Given the description of an element on the screen output the (x, y) to click on. 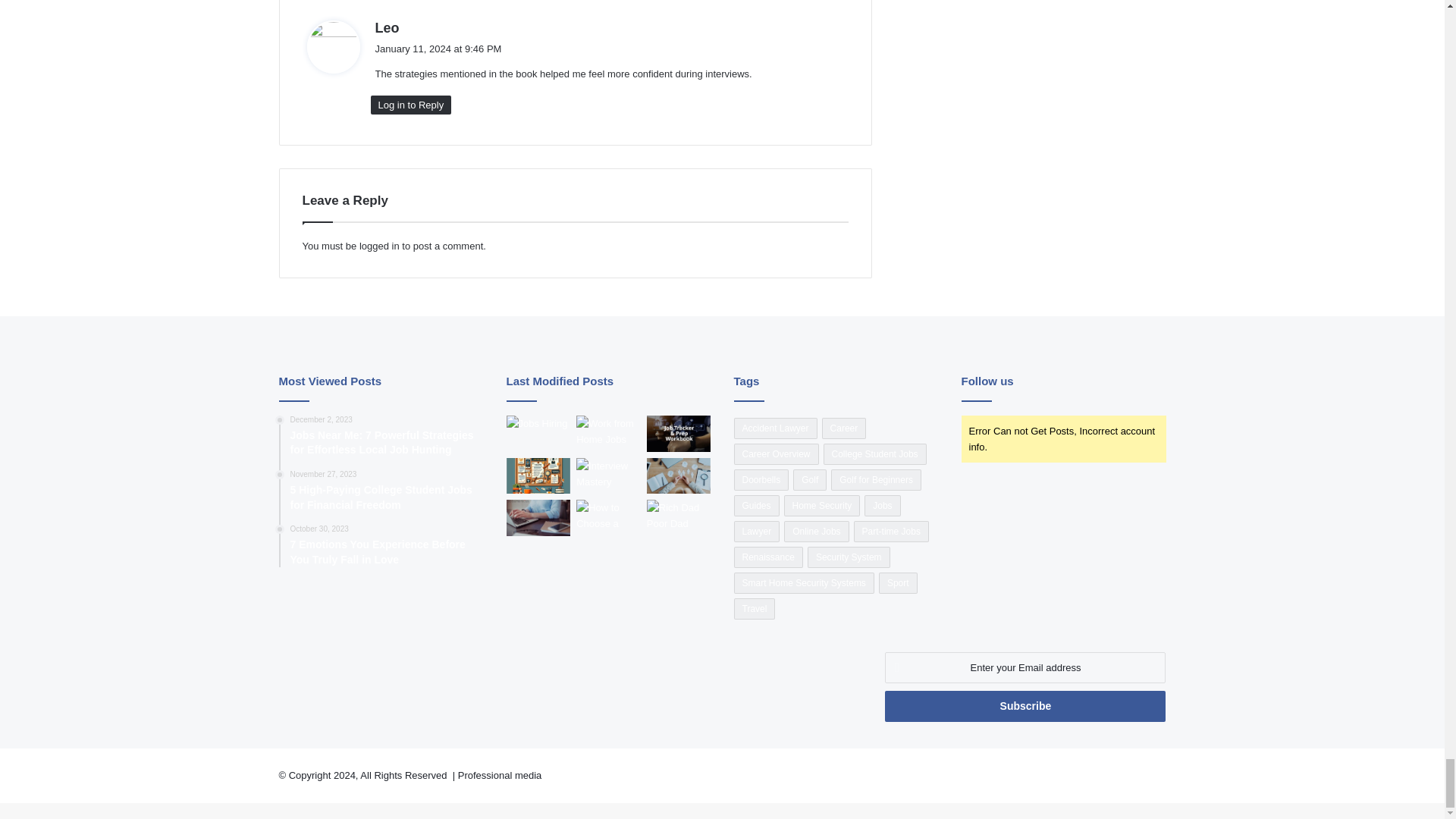
Subscribe (1025, 706)
